Given the description of an element on the screen output the (x, y) to click on. 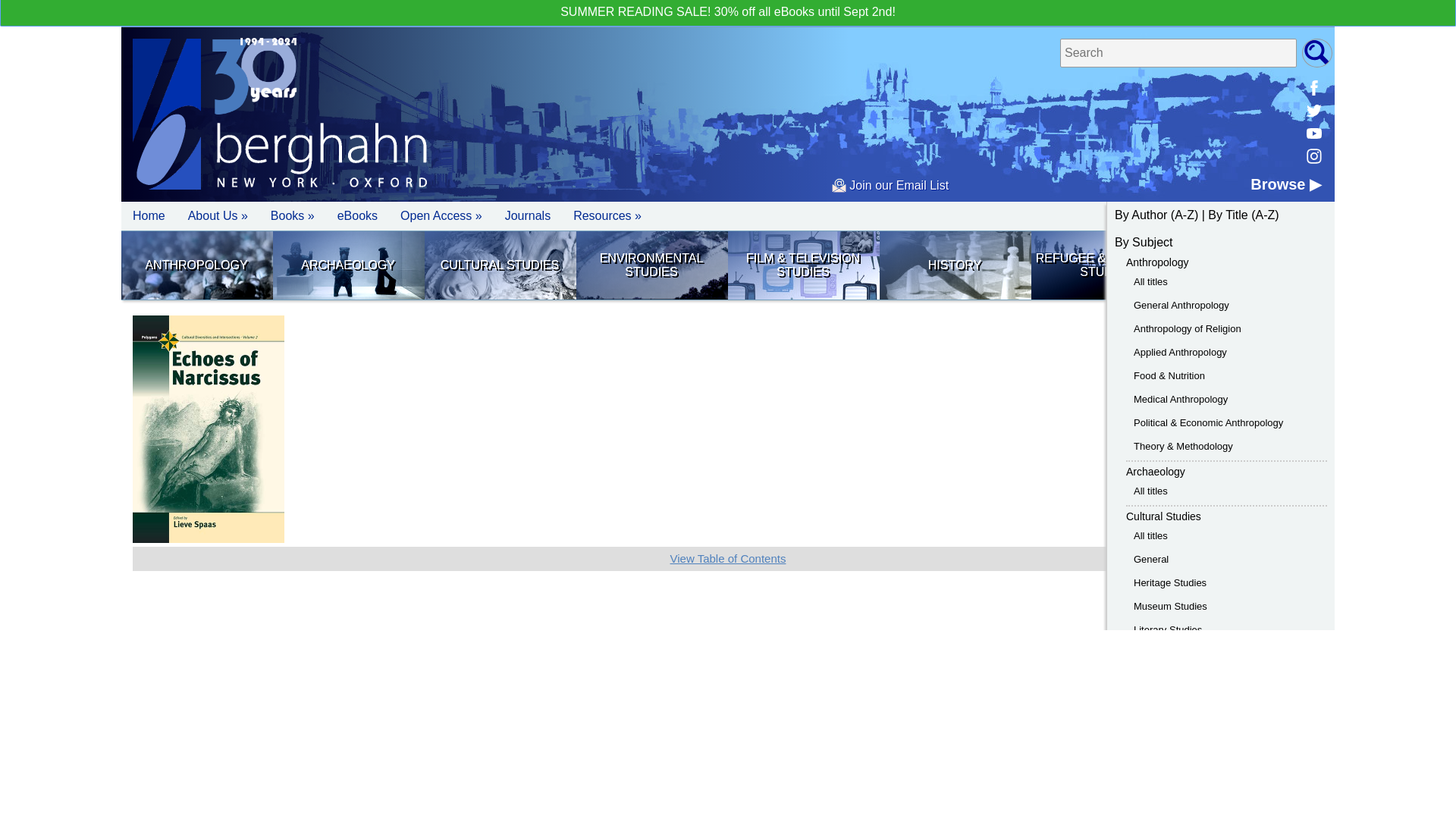
Browse (1285, 184)
Film Studies (802, 265)
General (1151, 559)
General Anthropology (1181, 305)
Museum Studies (1170, 605)
By Subject (1143, 241)
Archaeology (1155, 471)
Cultural Studies (1163, 516)
Berghahn Books on Youtube (1313, 133)
Anthropology of Religion (1187, 328)
